Given the description of an element on the screen output the (x, y) to click on. 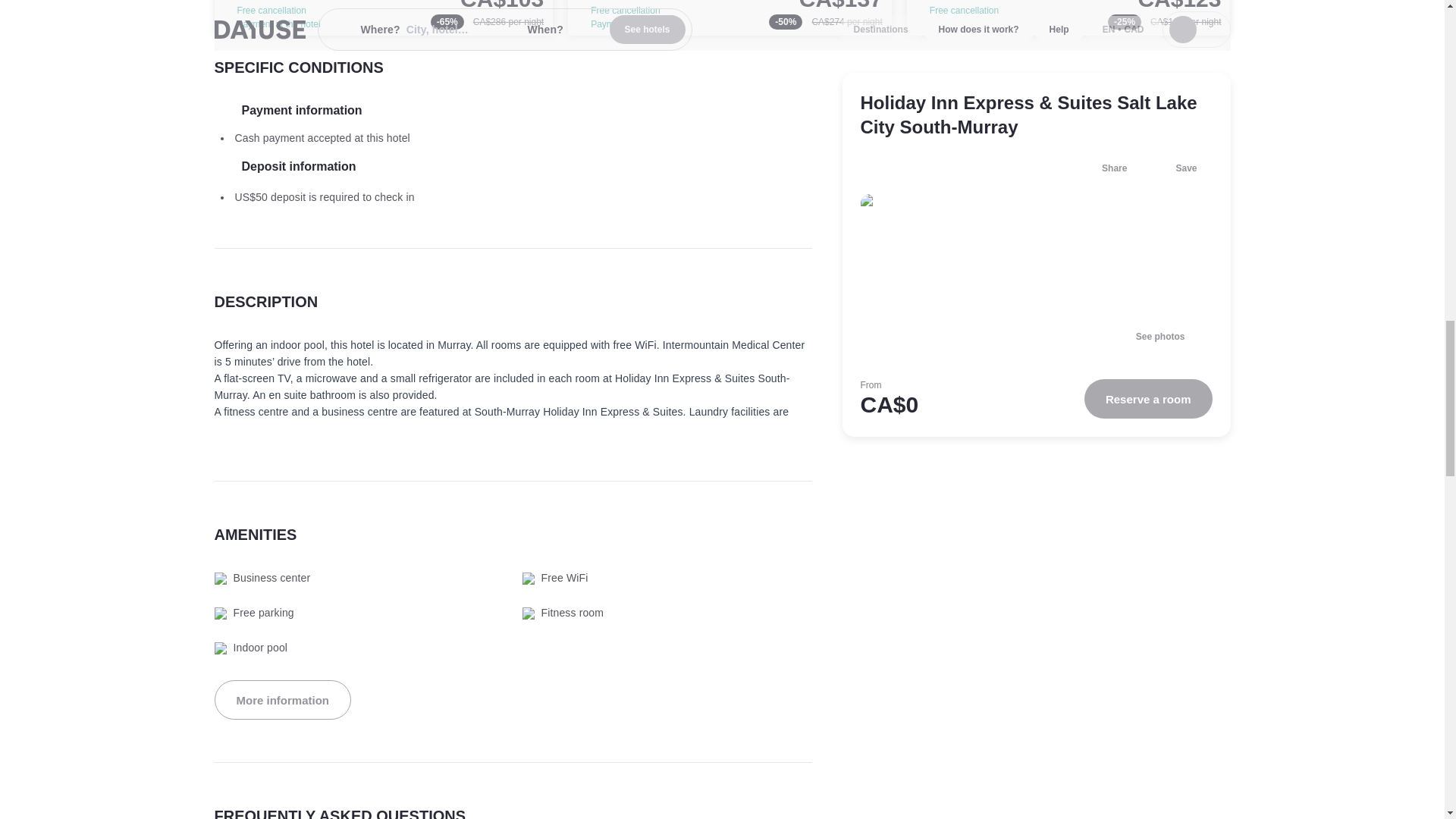
Radisson Hotel Downtown Salt Lake City (729, 18)
Holiday Inn Express Airport East, an IHG Hotel (1068, 18)
